Given the description of an element on the screen output the (x, y) to click on. 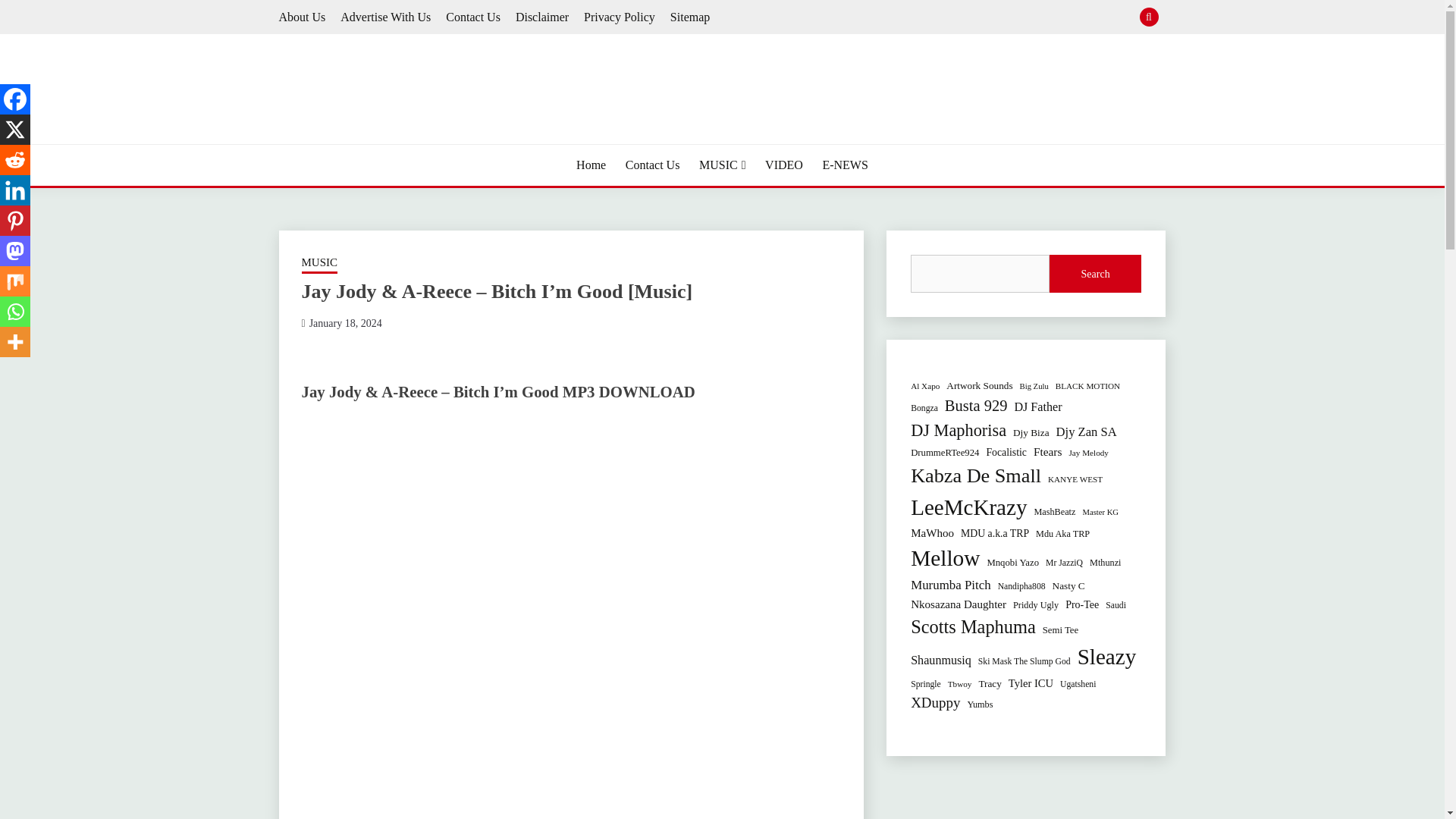
Advertise With Us (385, 16)
Contact Us (472, 16)
Search (832, 18)
January 18, 2024 (344, 323)
E-NEWS (844, 165)
Reddit (15, 159)
X (15, 129)
VIDEO (784, 165)
Sitemap (689, 16)
MUSIC (721, 165)
